Given the description of an element on the screen output the (x, y) to click on. 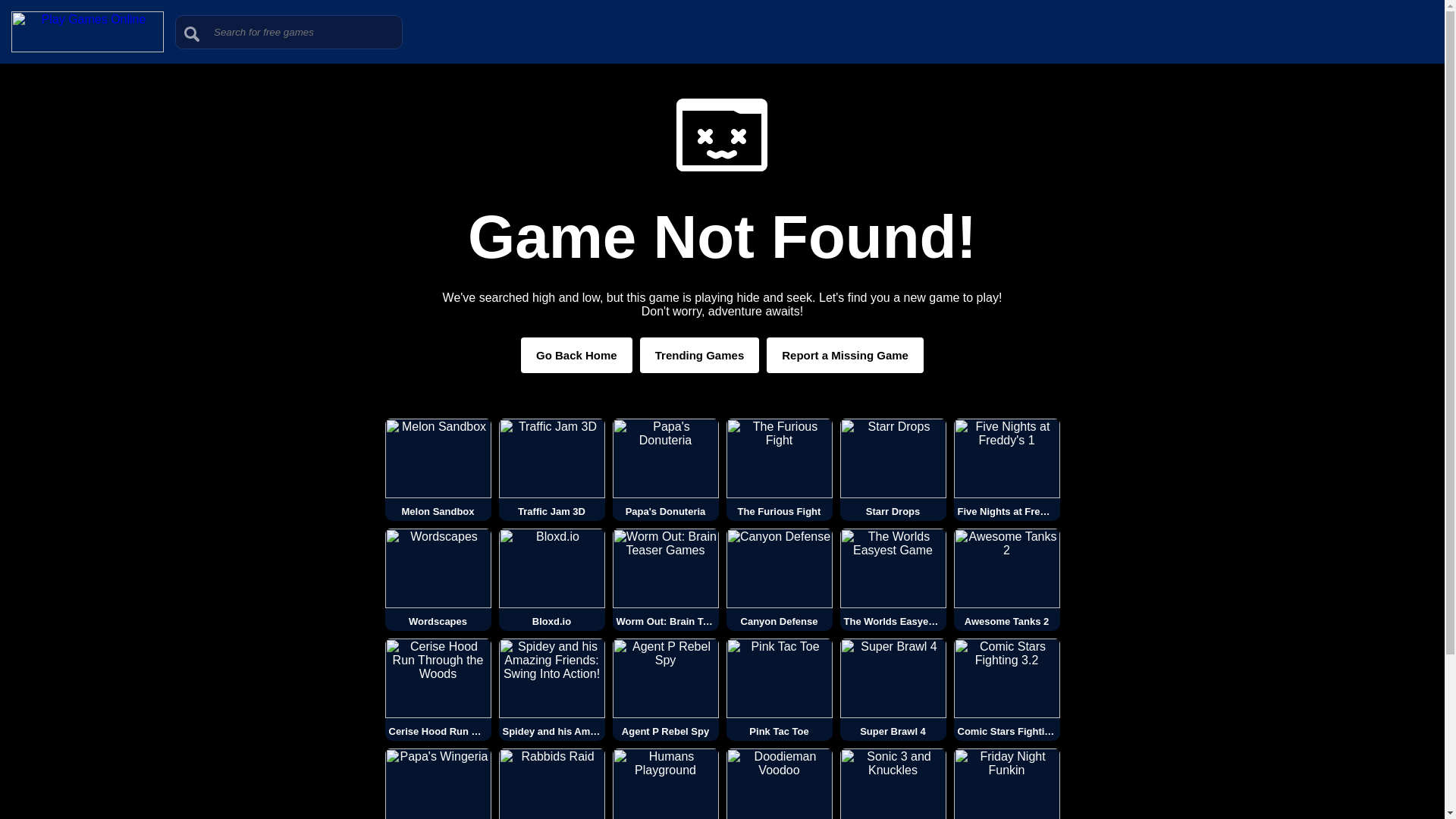
Worm Out: Brain Teaser Games (665, 579)
Papa's Donuteria (665, 469)
The Furious Fight (779, 469)
Awesome Tanks 2 (1006, 579)
Sonic 3 and Knuckles (893, 783)
Canyon Defense (779, 579)
Wordscapes (438, 579)
Rabbids Raid (552, 783)
Agent P Rebel Spy (665, 689)
Play Games Online (87, 47)
Five Nights at Freddy's 1 (1006, 469)
Friday Night Funkin (1006, 783)
Comic Stars Fighting 3.2 (1006, 689)
Traffic Jam 3D (552, 469)
Report a Missing Game (845, 355)
